Given the description of an element on the screen output the (x, y) to click on. 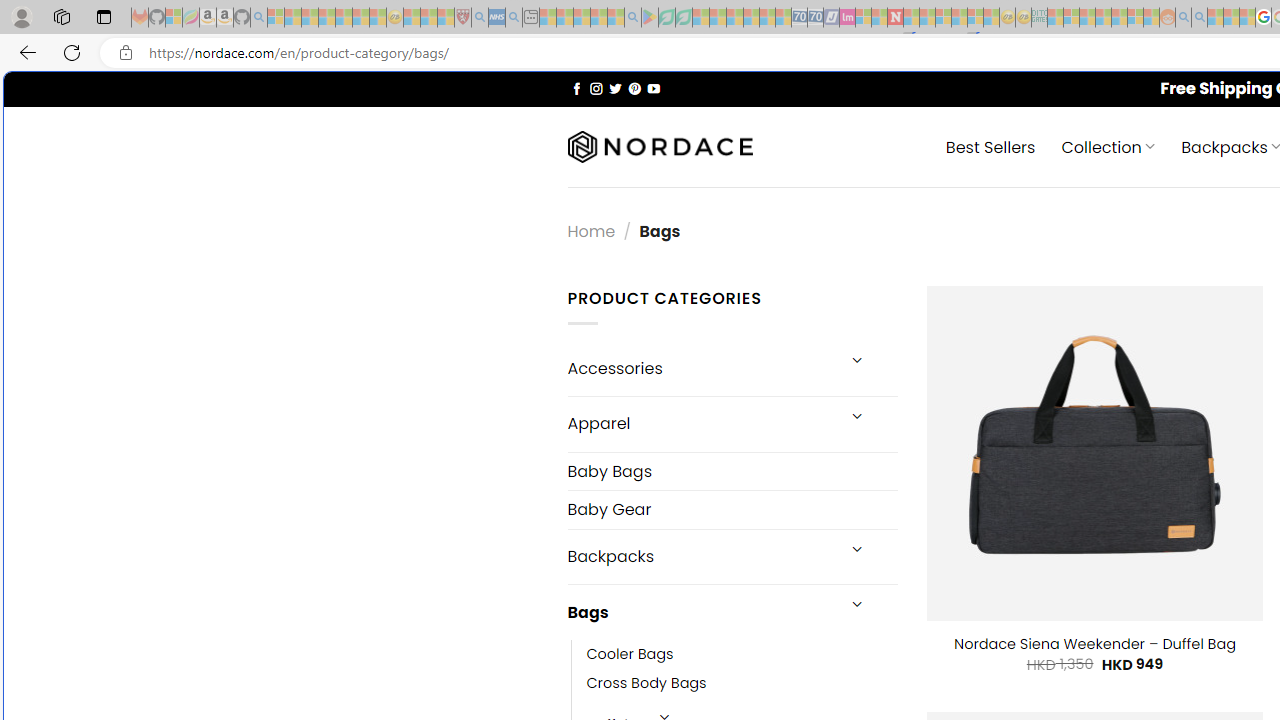
Backpacks (700, 556)
Follow on YouTube (653, 88)
